Given the description of an element on the screen output the (x, y) to click on. 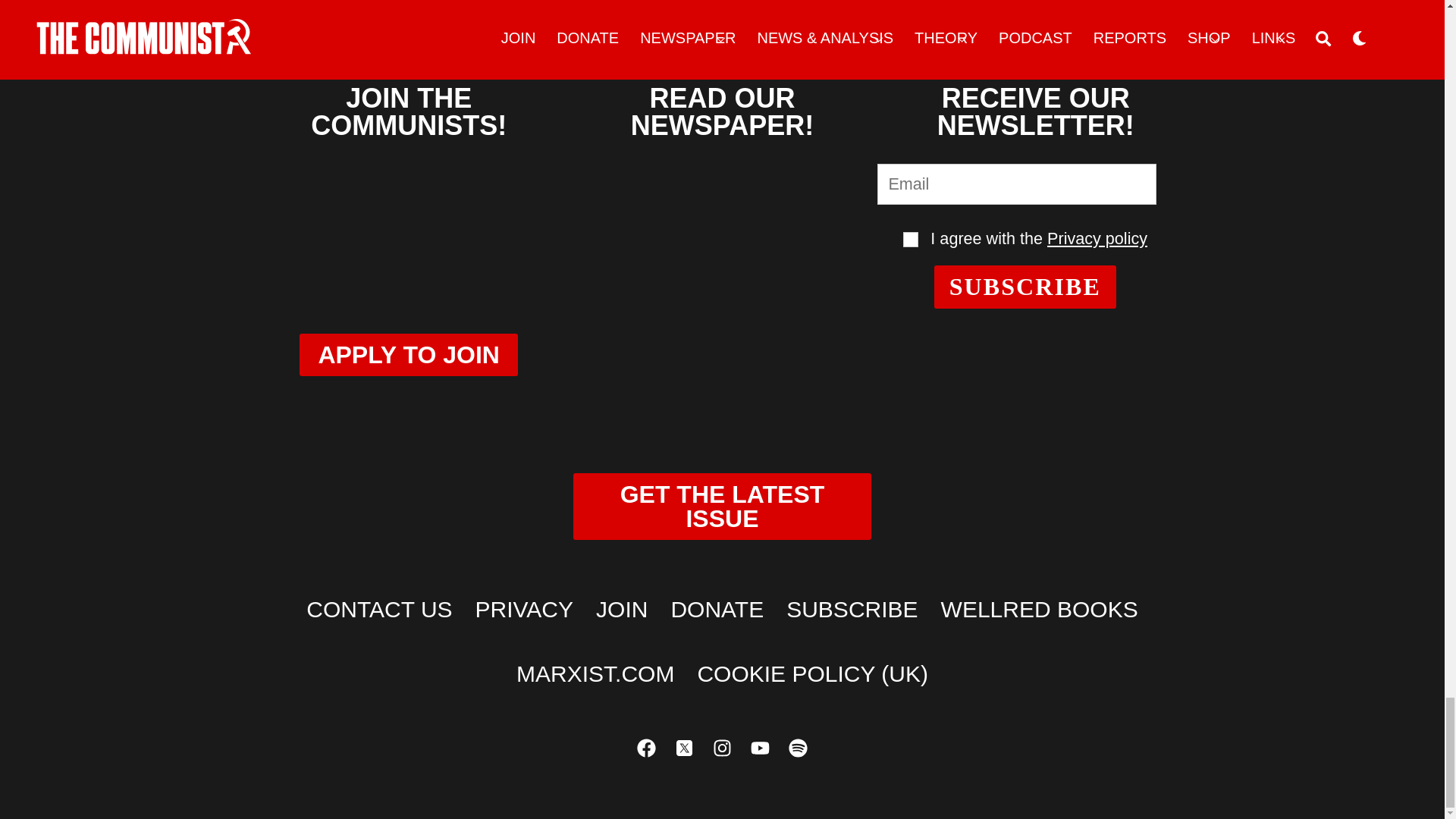
Privacy policy (1096, 238)
on (910, 239)
Terms and conditions (910, 239)
